Given the description of an element on the screen output the (x, y) to click on. 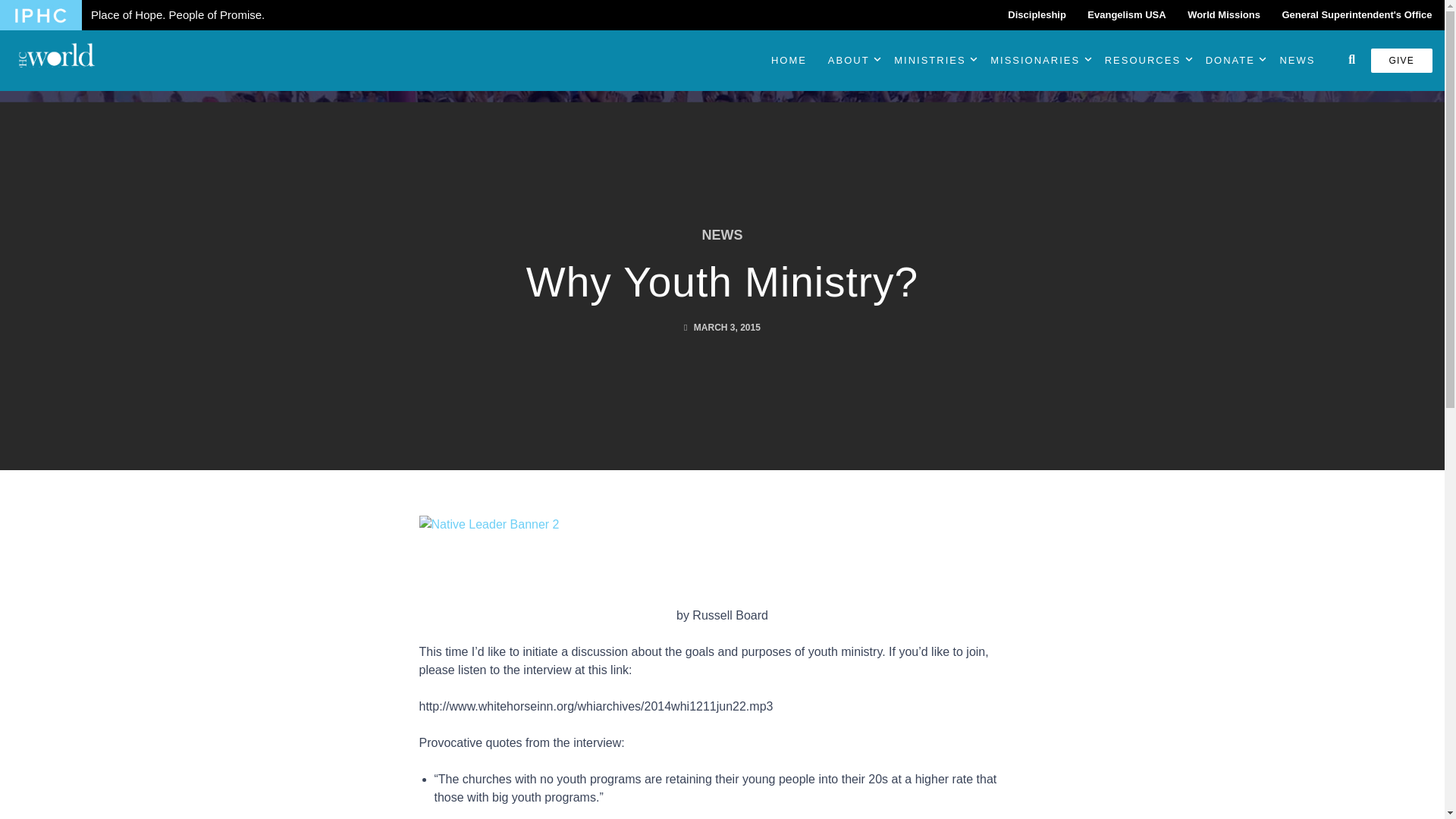
Discipleship (1036, 14)
World Missions (1223, 14)
NEWS (1297, 60)
RESOURCES (1138, 60)
MISSIONARIES (1030, 60)
General Superintendent's Office (1356, 14)
HOME (788, 60)
Evangelism USA (1126, 14)
ABOUT (843, 60)
DONATE (1225, 60)
